Given the description of an element on the screen output the (x, y) to click on. 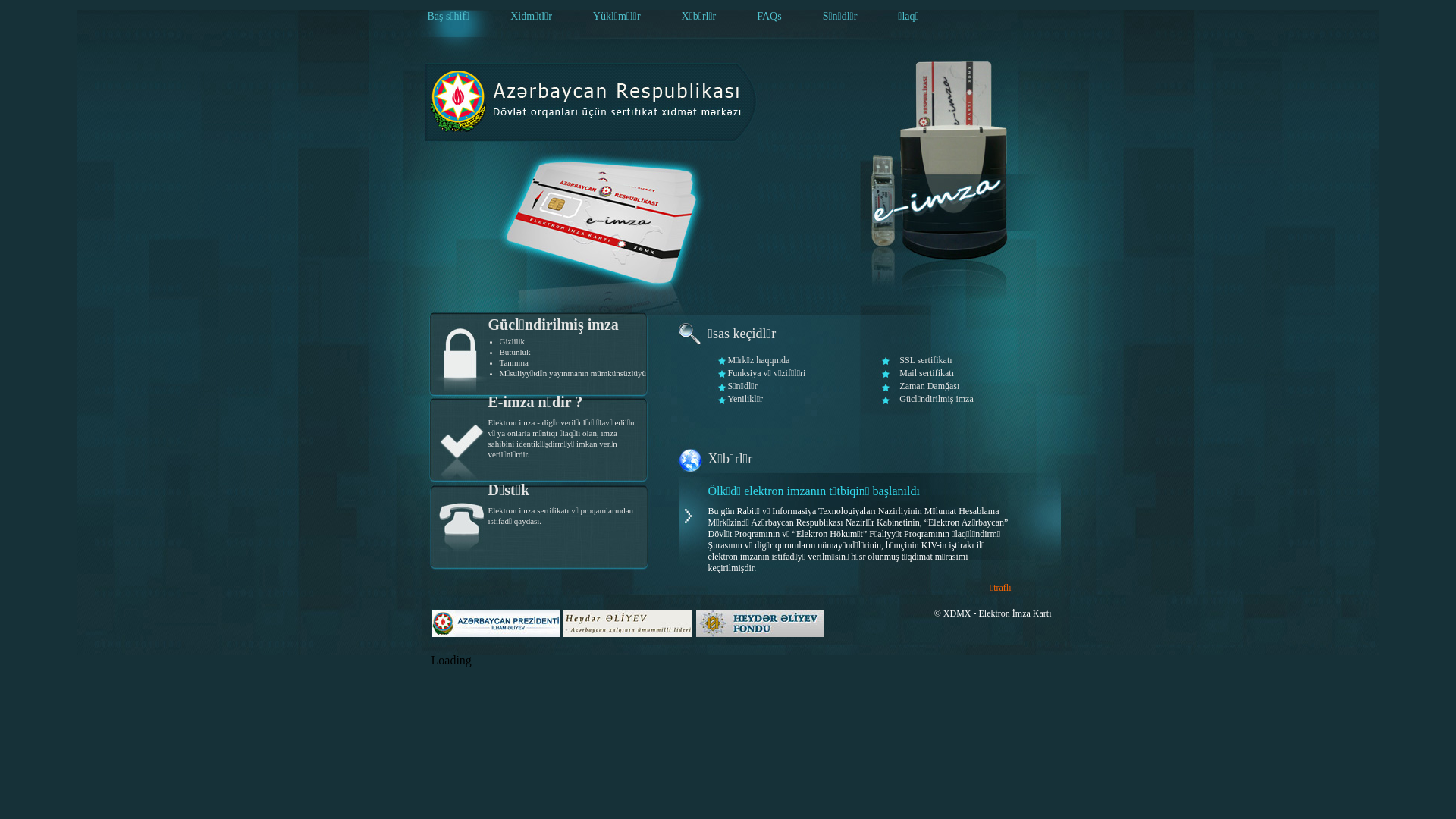
FAQs Element type: text (768, 15)
